Given the description of an element on the screen output the (x, y) to click on. 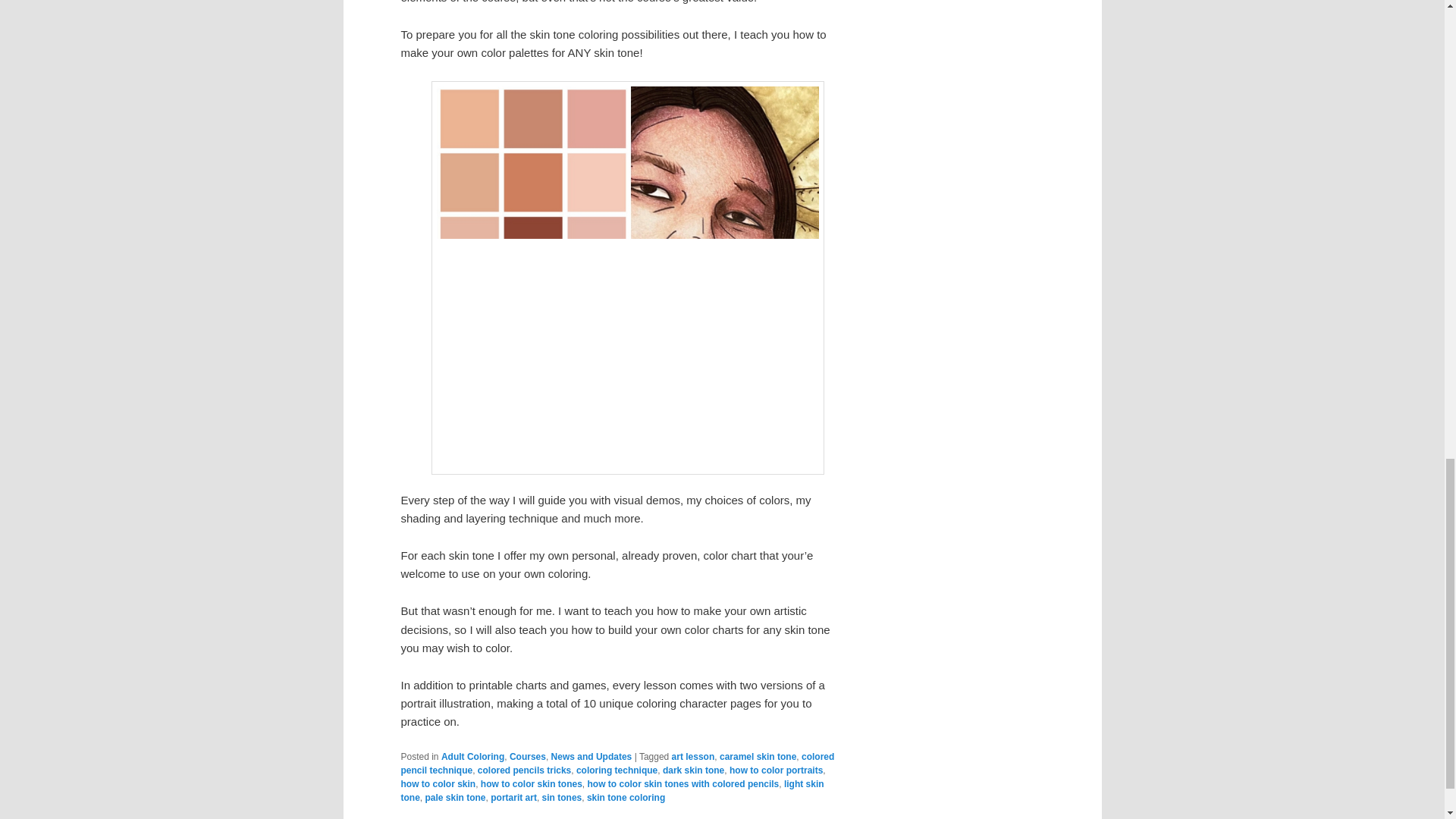
how to color skin (438, 783)
light skin tone (612, 790)
art lesson (692, 756)
how to color skin tones with colored pencils (683, 783)
colored pencil technique (617, 763)
how to color skin tones (531, 783)
how to color portraits (775, 769)
Courses (527, 756)
skin tone coloring (625, 797)
caramel skin tone (757, 756)
pale skin tone (455, 797)
colored pencils tricks (523, 769)
portarit art (513, 797)
News and Updates (591, 756)
coloring technique (617, 769)
